Given the description of an element on the screen output the (x, y) to click on. 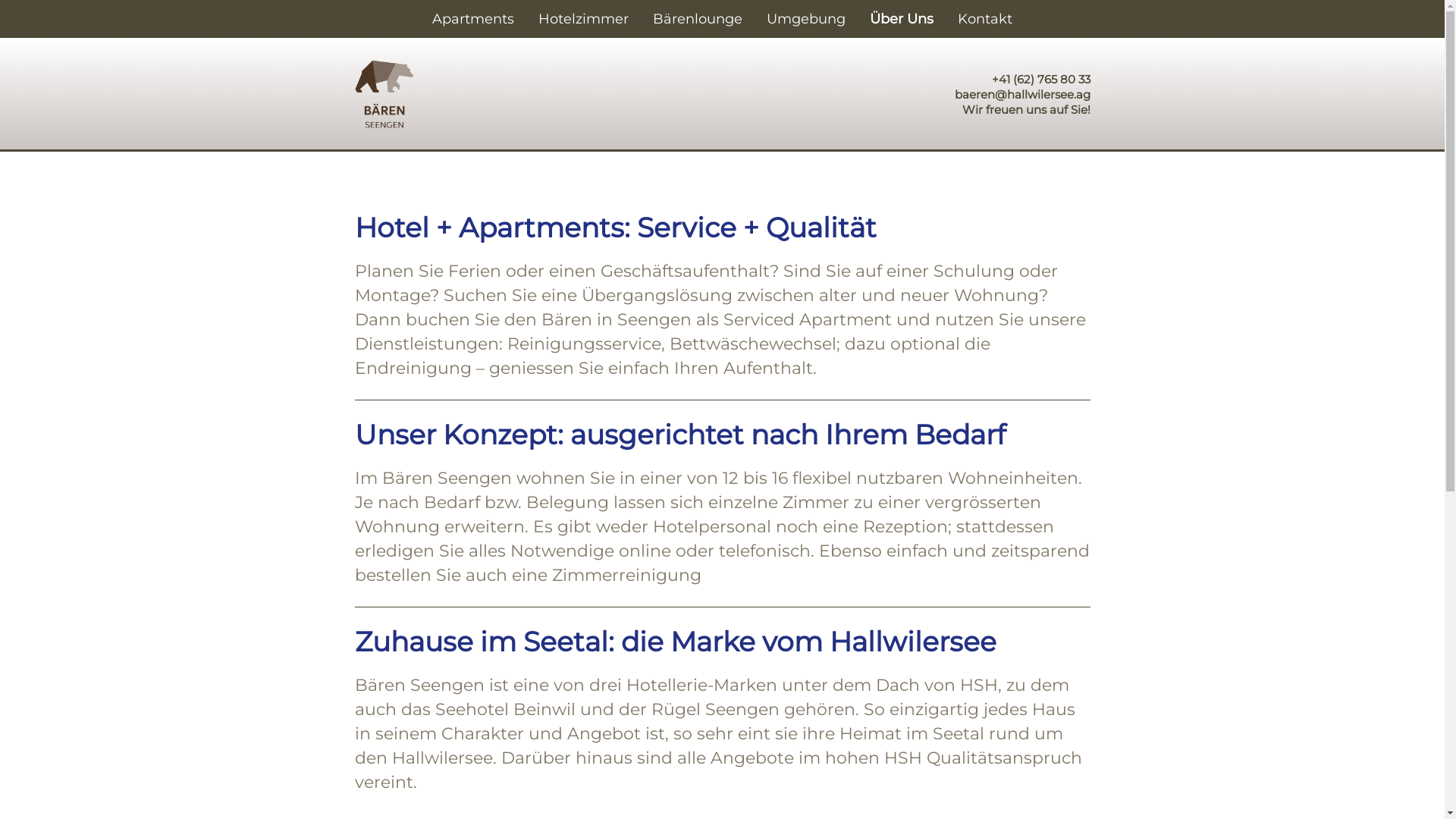
Hotelzimmer Element type: text (583, 18)
Kontakt Element type: text (984, 18)
Apartments Element type: text (473, 18)
Umgebung Element type: text (805, 18)
baeren@hallwilersee.ag Element type: text (1021, 94)
